Given the description of an element on the screen output the (x, y) to click on. 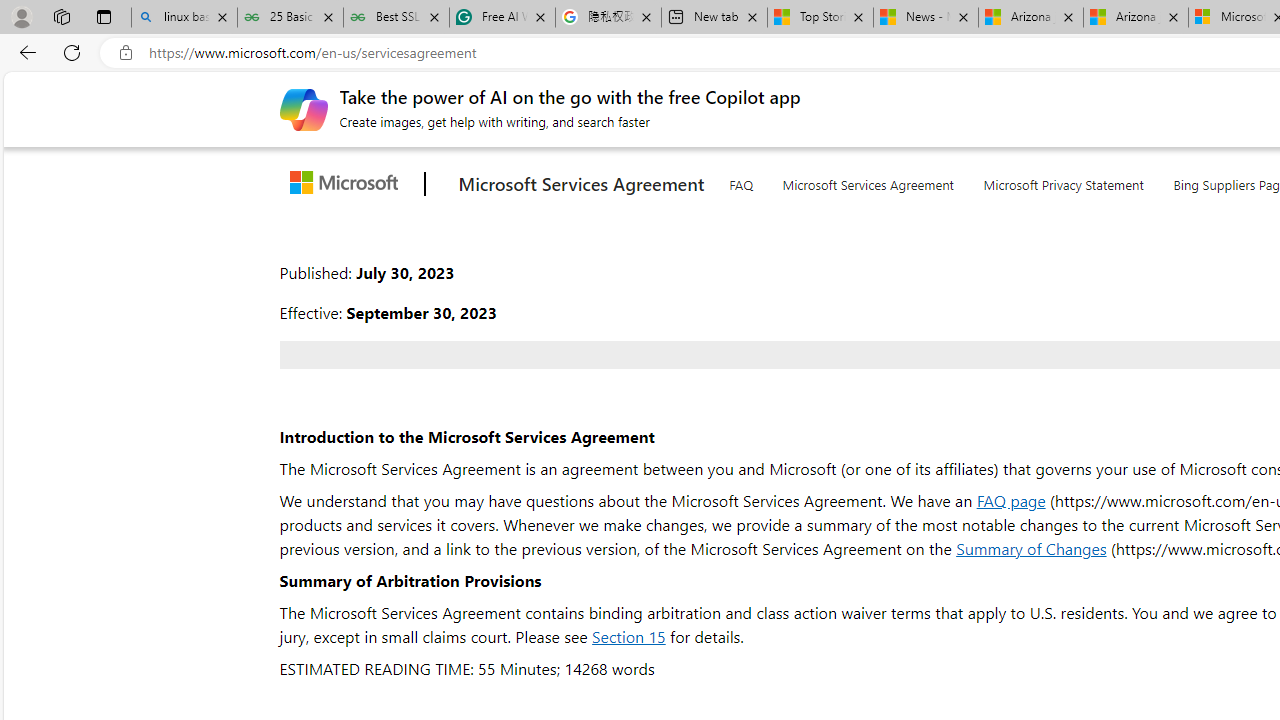
Microsoft Privacy Statement (1063, 181)
FAQ page (1010, 500)
Section 15 (628, 636)
Microsoft Privacy Statement (1063, 180)
Summary of Changes (1031, 547)
FAQ (740, 181)
